Given the description of an element on the screen output the (x, y) to click on. 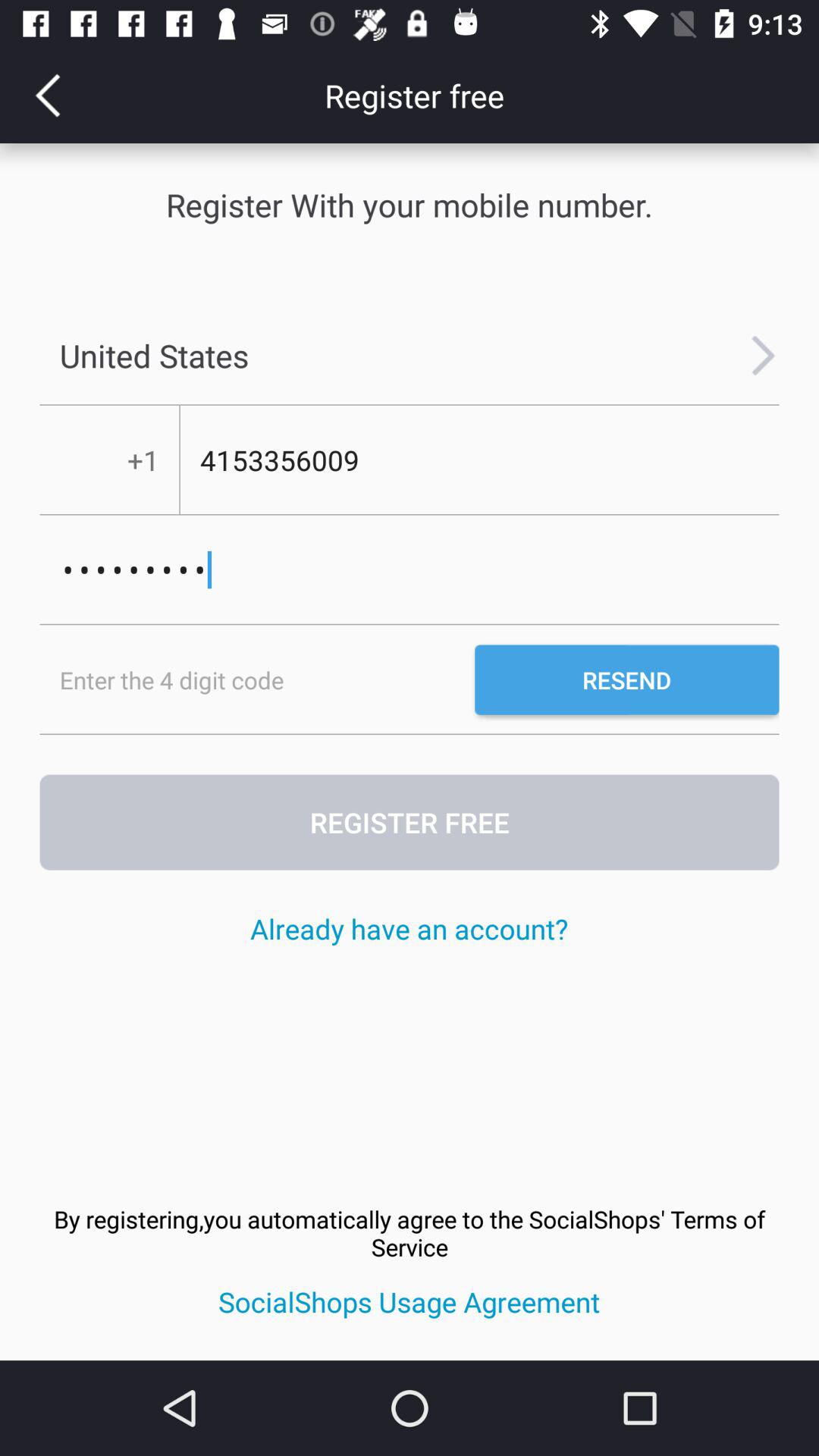
scroll to crowd3116 icon (409, 570)
